Given the description of an element on the screen output the (x, y) to click on. 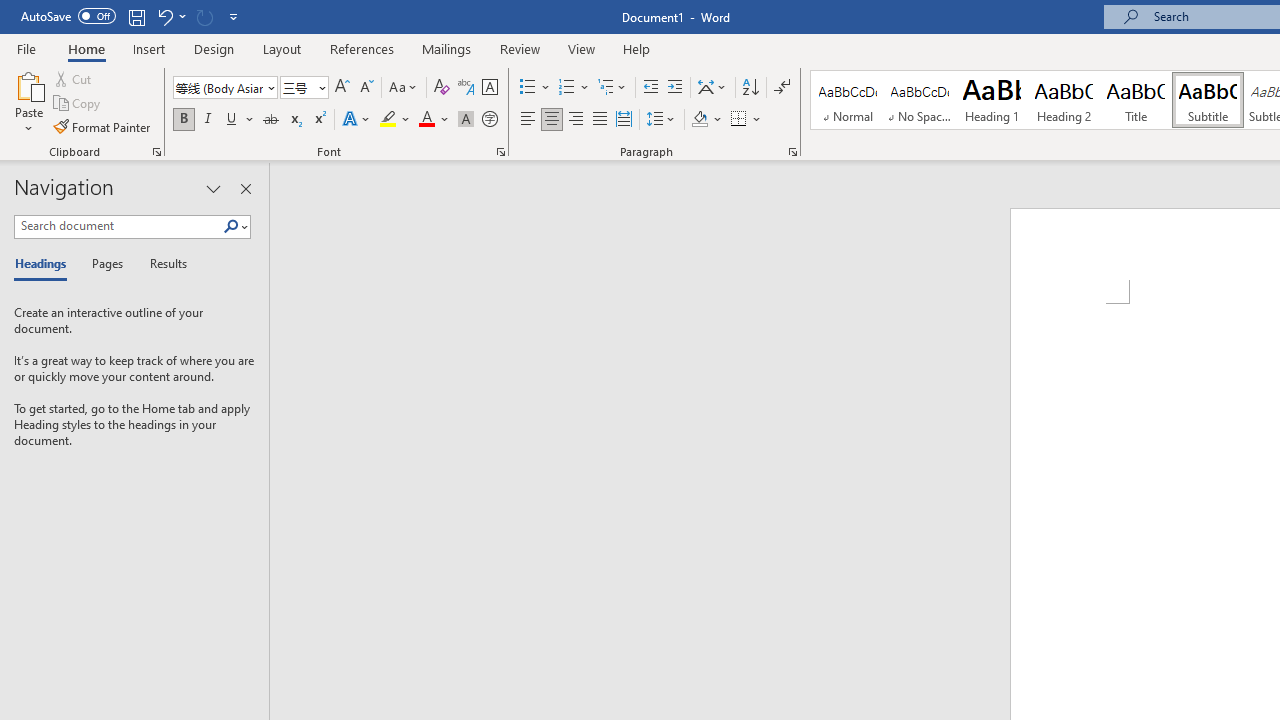
Heading 2 (1063, 100)
